Given the description of an element on the screen output the (x, y) to click on. 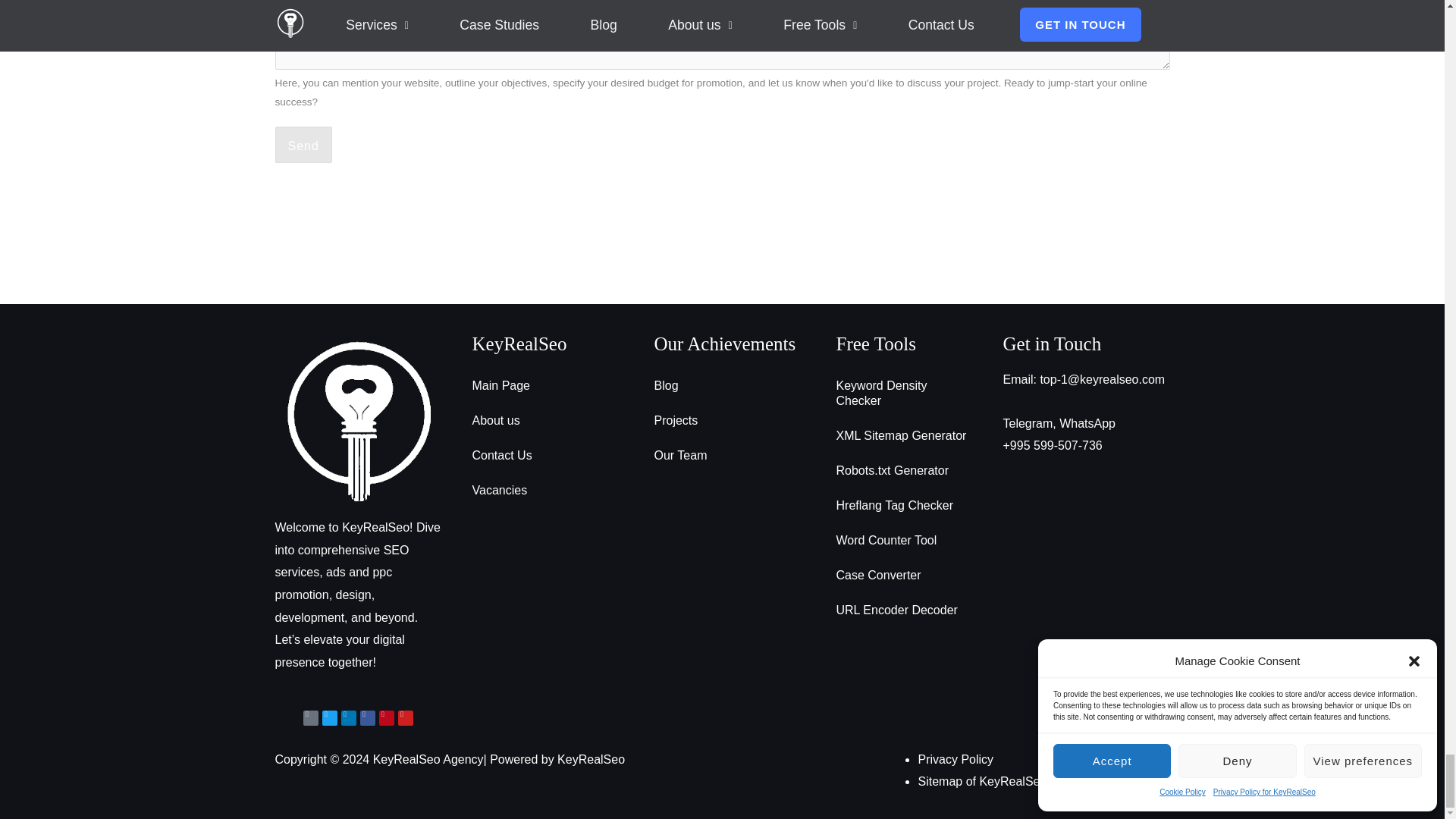
KeyRealSeo Website Pages (981, 780)
